Given the description of an element on the screen output the (x, y) to click on. 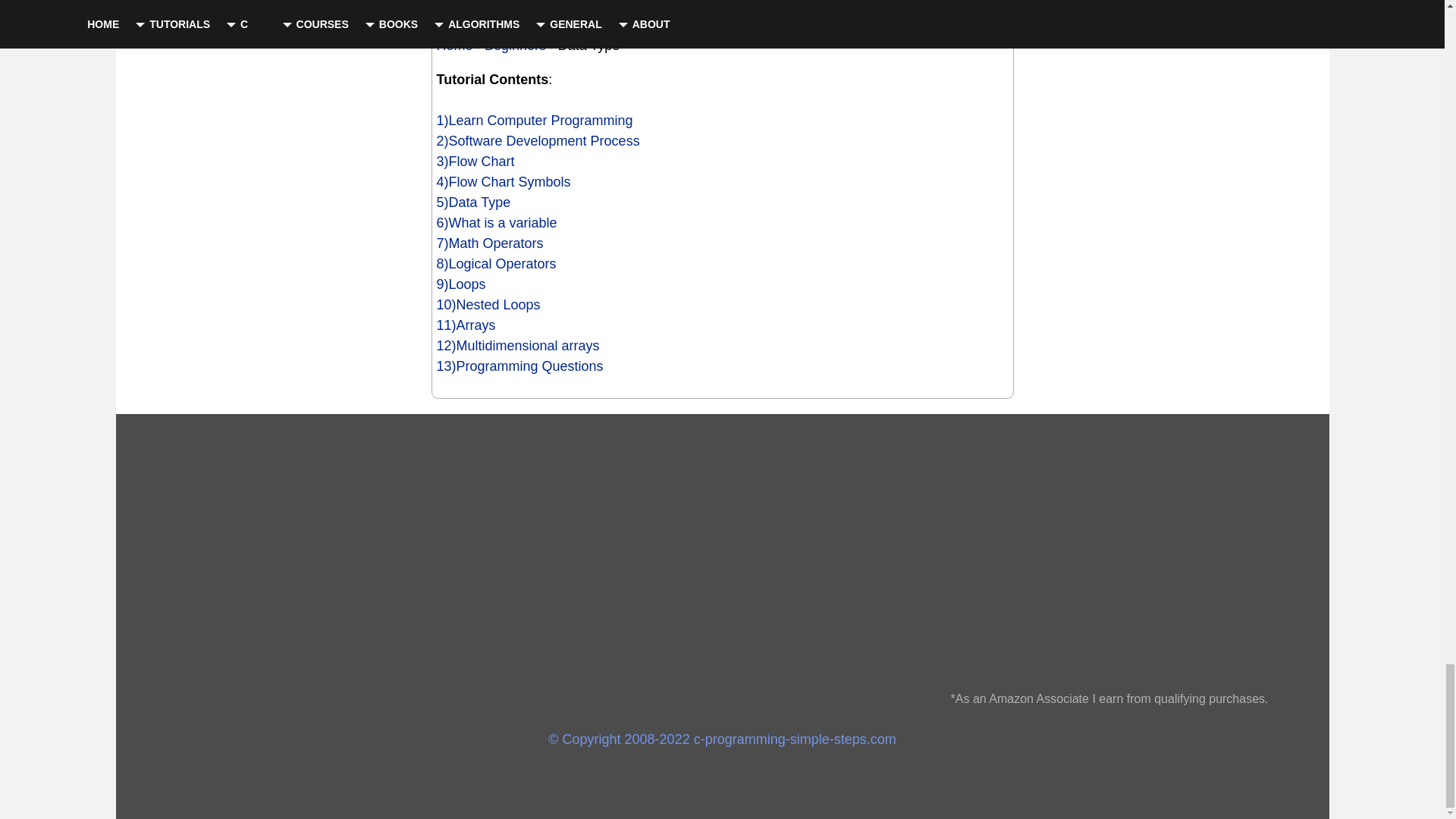
Home (454, 45)
Beginners (515, 45)
evelopment Process (578, 140)
